Given the description of an element on the screen output the (x, y) to click on. 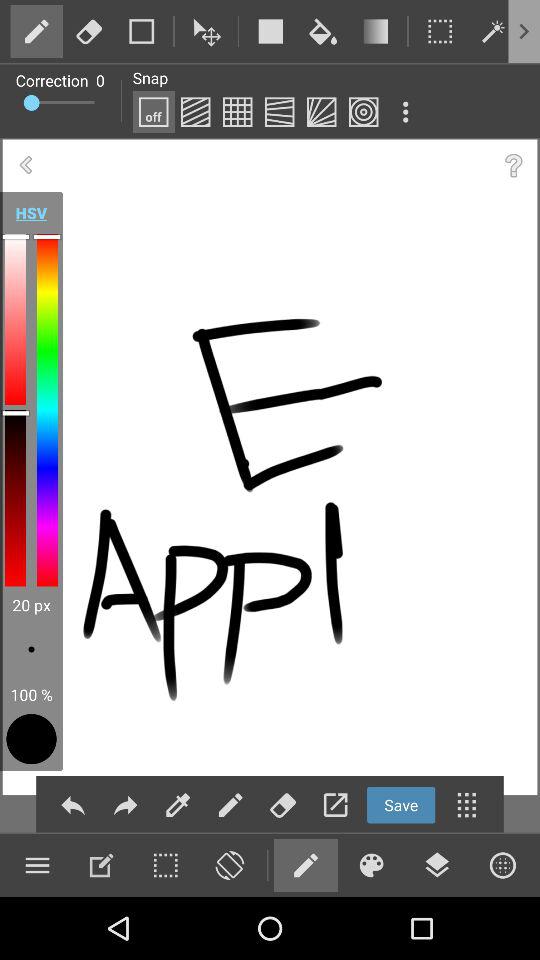
more tools (37, 865)
